Given the description of an element on the screen output the (x, y) to click on. 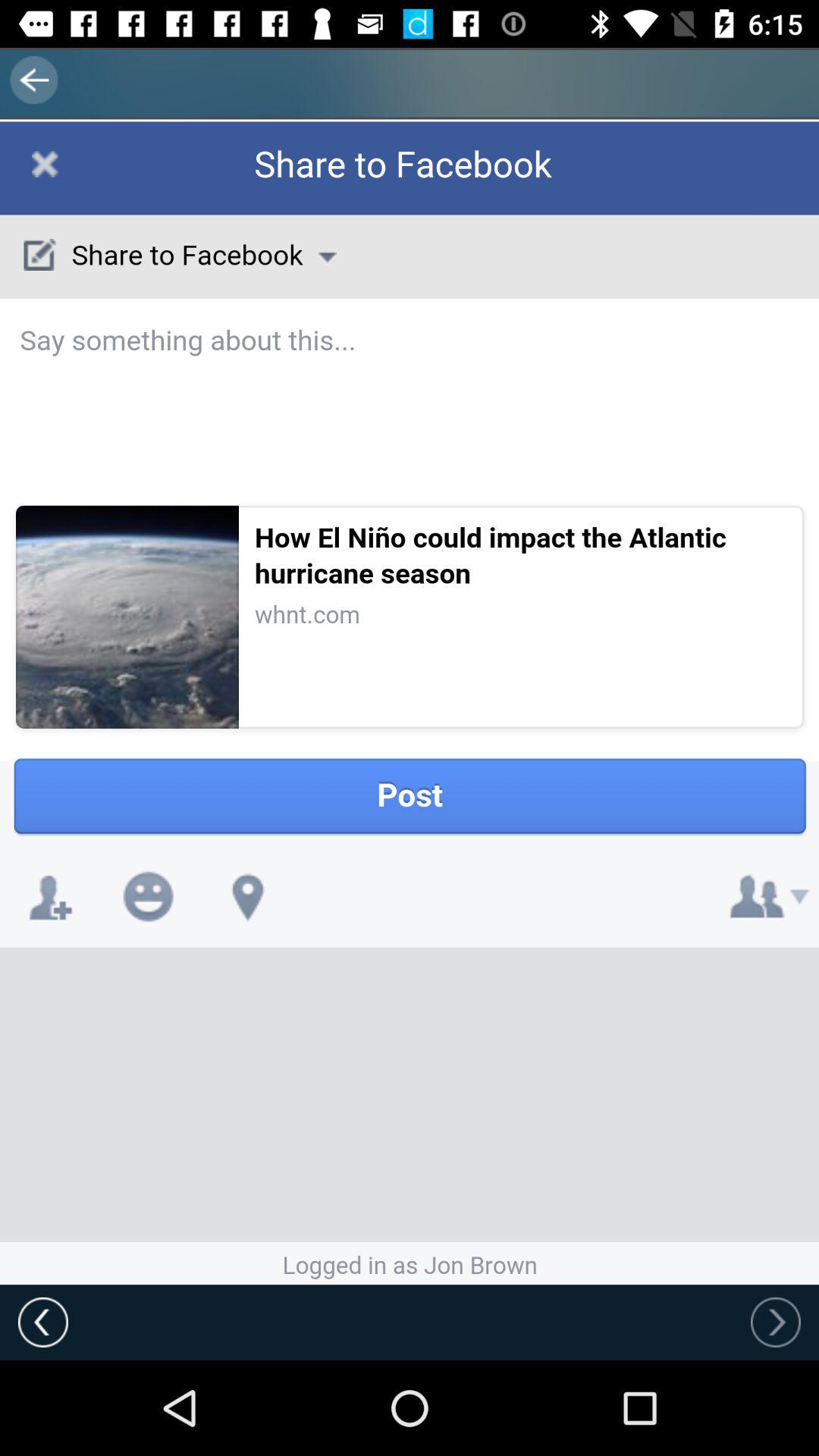
next page (775, 1322)
